Given the description of an element on the screen output the (x, y) to click on. 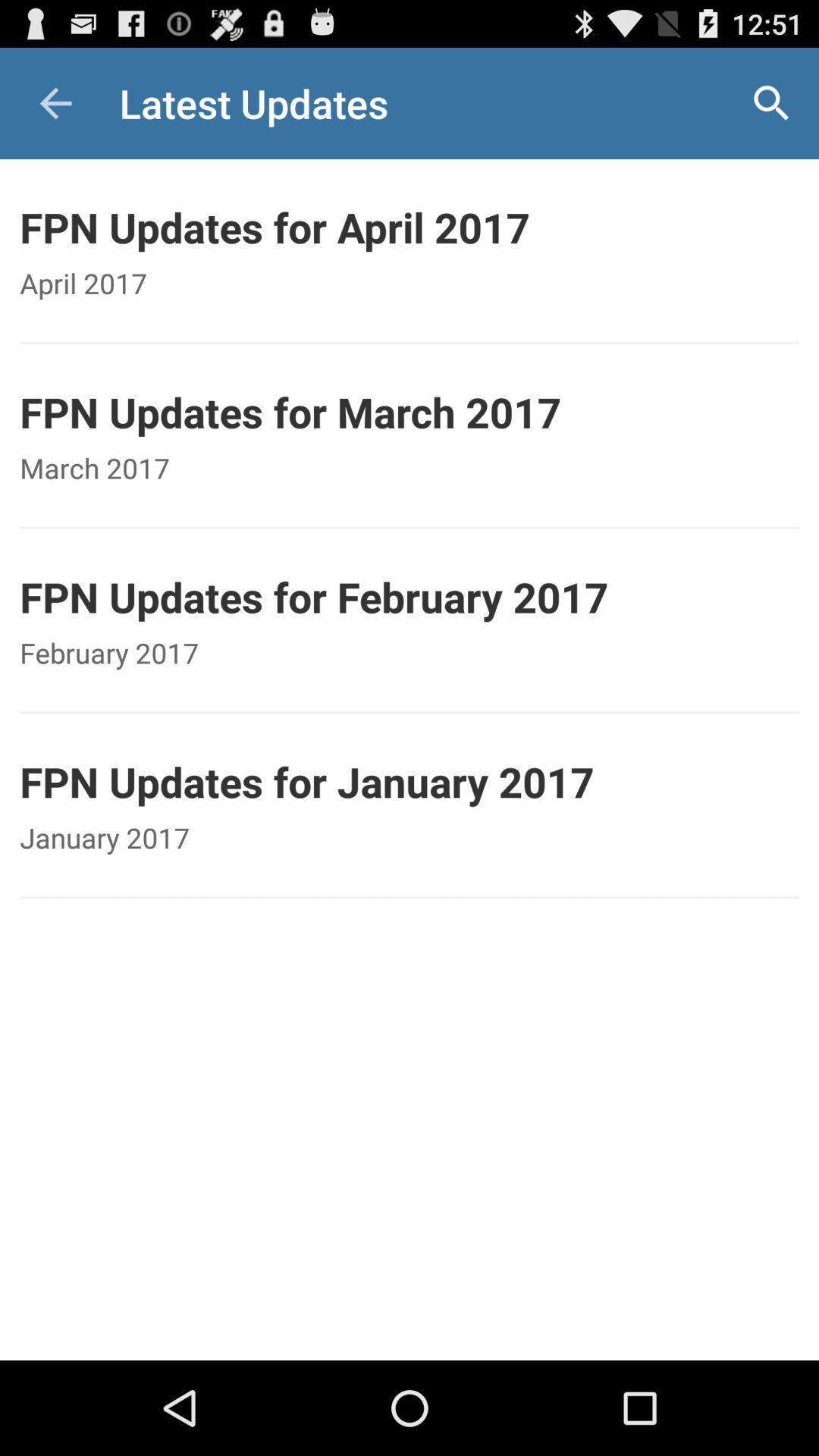
select icon at the top right corner (771, 103)
